Given the description of an element on the screen output the (x, y) to click on. 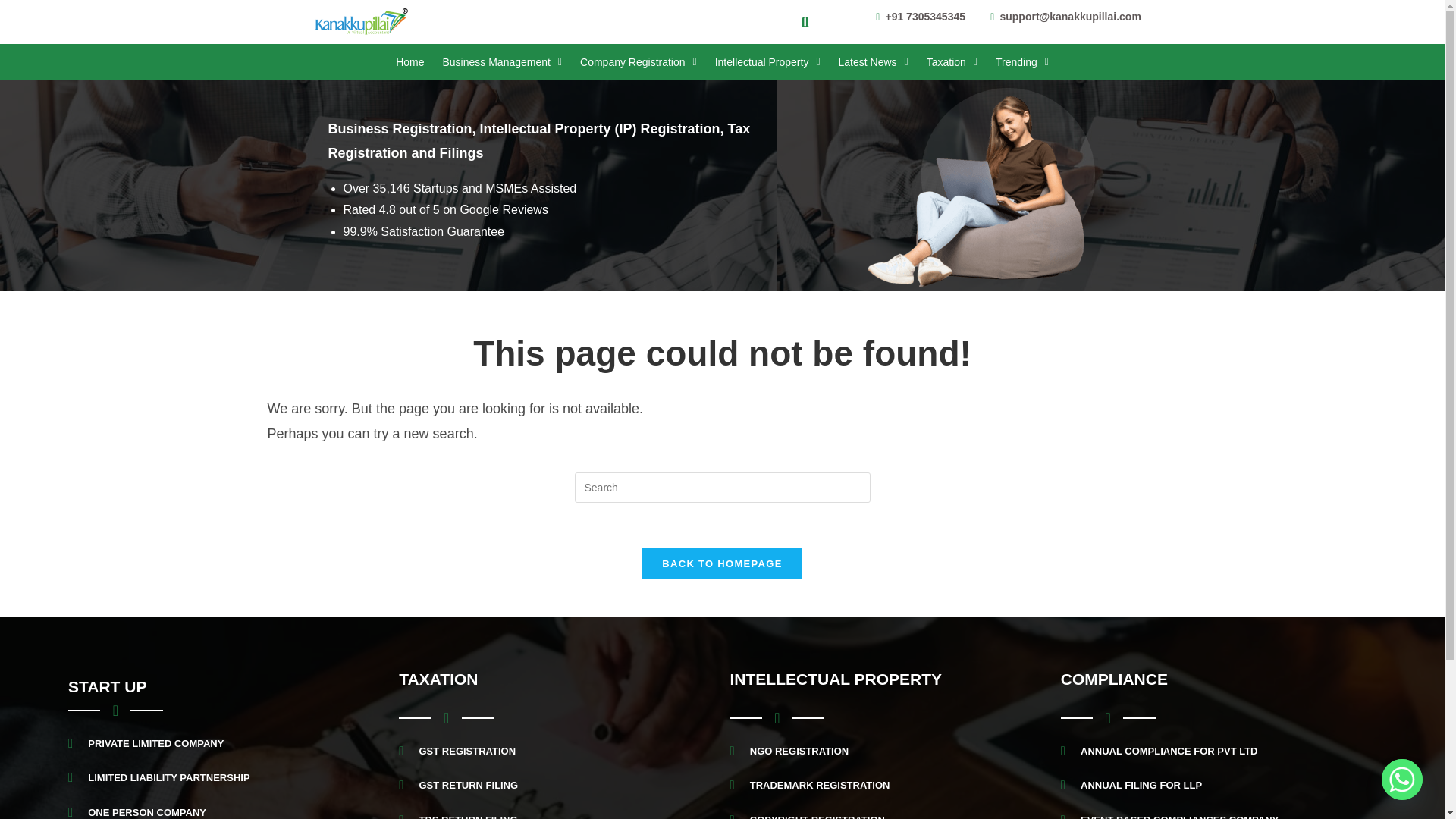
Latest News (873, 61)
Intellectual Property (767, 61)
Business Management (501, 61)
Search (798, 22)
Company Registration (638, 61)
Taxation (952, 61)
Home (409, 61)
